Given the description of an element on the screen output the (x, y) to click on. 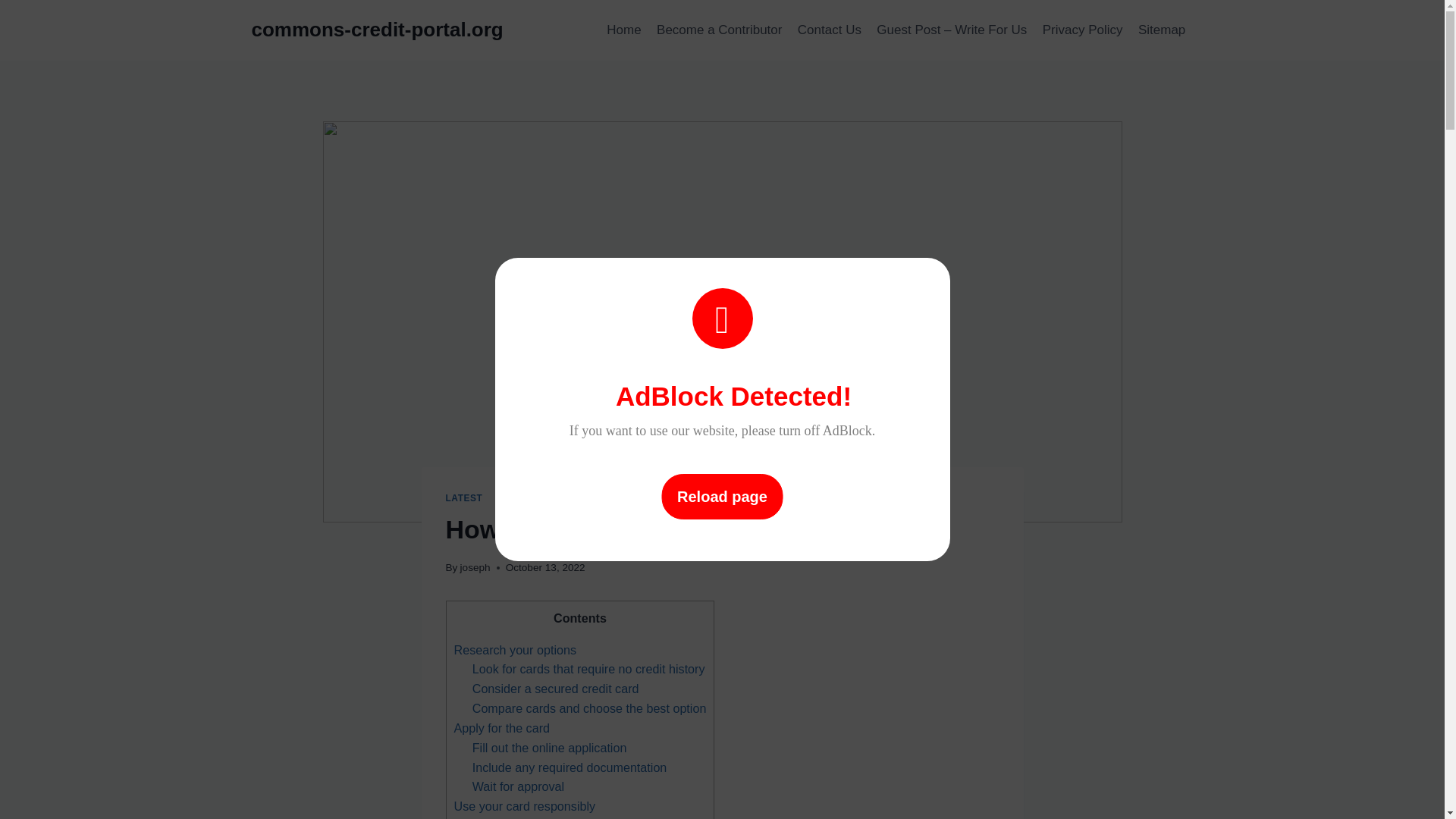
Sitemap (1162, 30)
Fill out the online application (549, 747)
Become a Contributor (719, 30)
Compare cards and choose the best option (588, 707)
Use your card responsibly (523, 806)
Look for cards that require no credit history (587, 668)
Reload page (722, 496)
Apply for the card (501, 727)
Include any required documentation (568, 766)
Research your options (514, 649)
Consider a secured credit card (555, 688)
LATEST (464, 498)
Home (623, 30)
joseph (475, 567)
Wait for approval (517, 786)
